Given the description of an element on the screen output the (x, y) to click on. 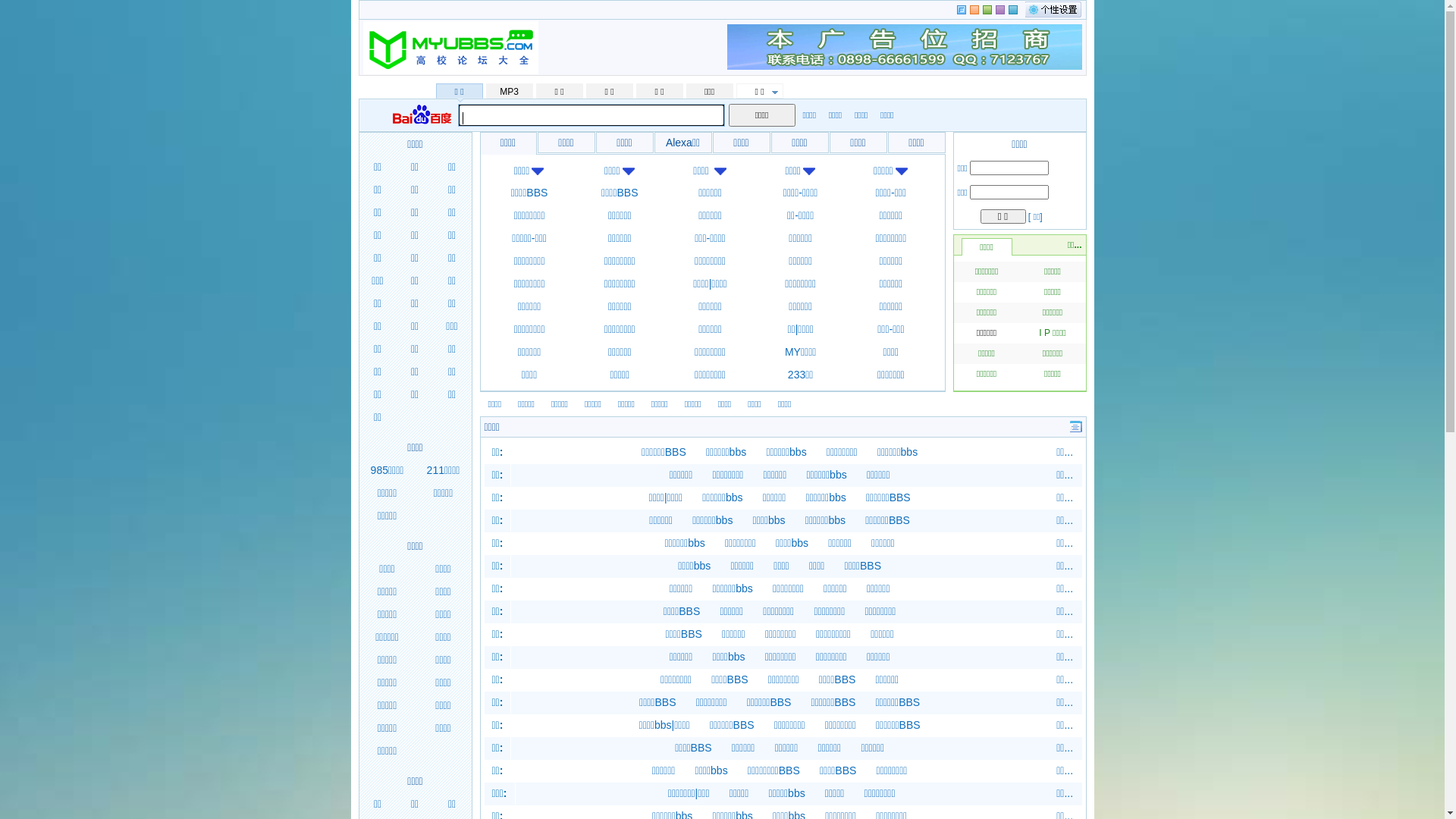
0 Element type: text (961, 9)
2 Element type: text (986, 9)
MP3 Element type: text (508, 90)
1 Element type: text (973, 9)
4 Element type: text (1012, 9)
3 Element type: text (999, 9)
